Given the description of an element on the screen output the (x, y) to click on. 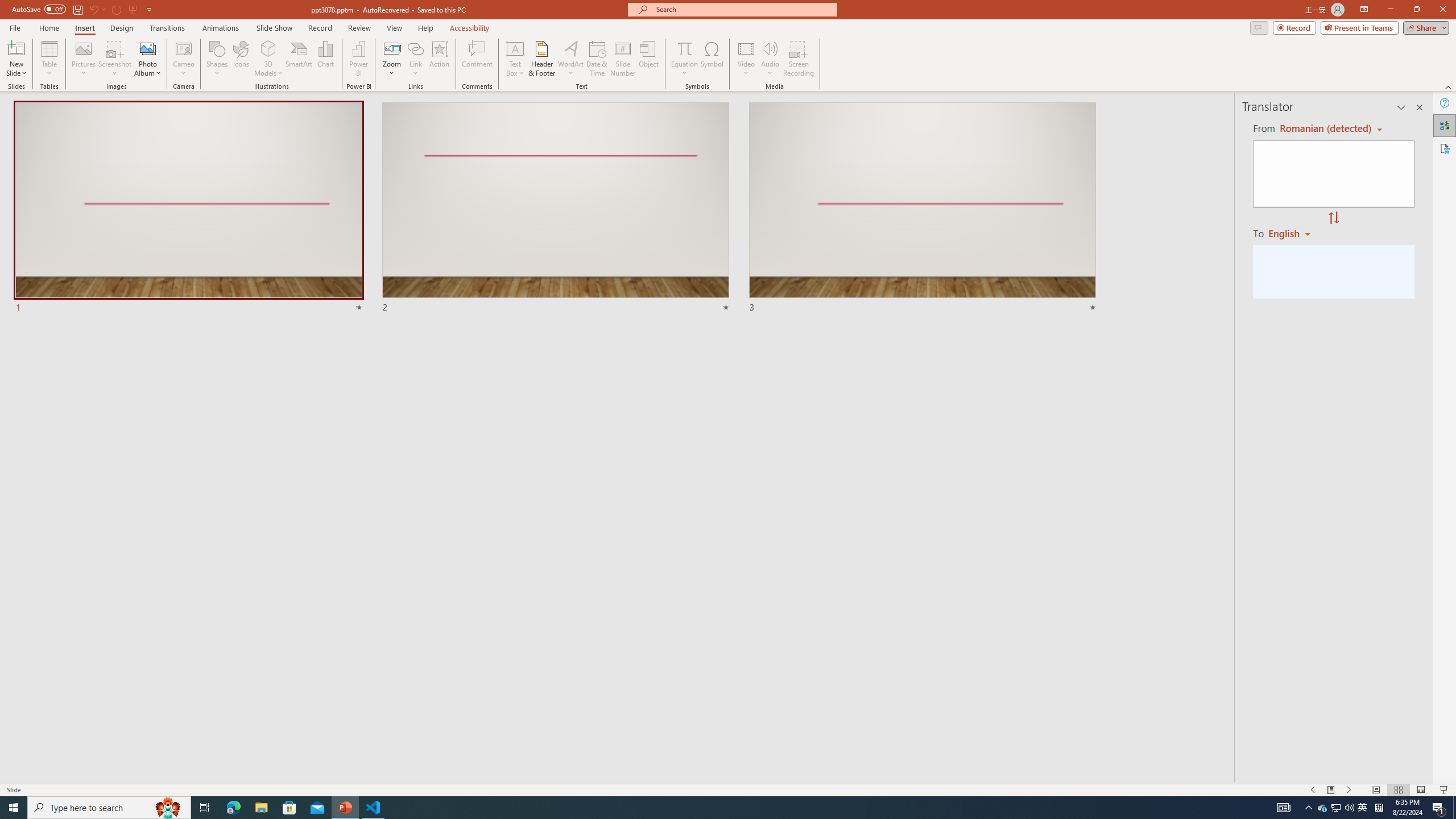
Slide Number (622, 58)
Comment (476, 58)
SmartArt... (298, 58)
Equation (683, 58)
Screen Recording... (798, 58)
Object... (649, 58)
Menu On (1331, 790)
